Given the description of an element on the screen output the (x, y) to click on. 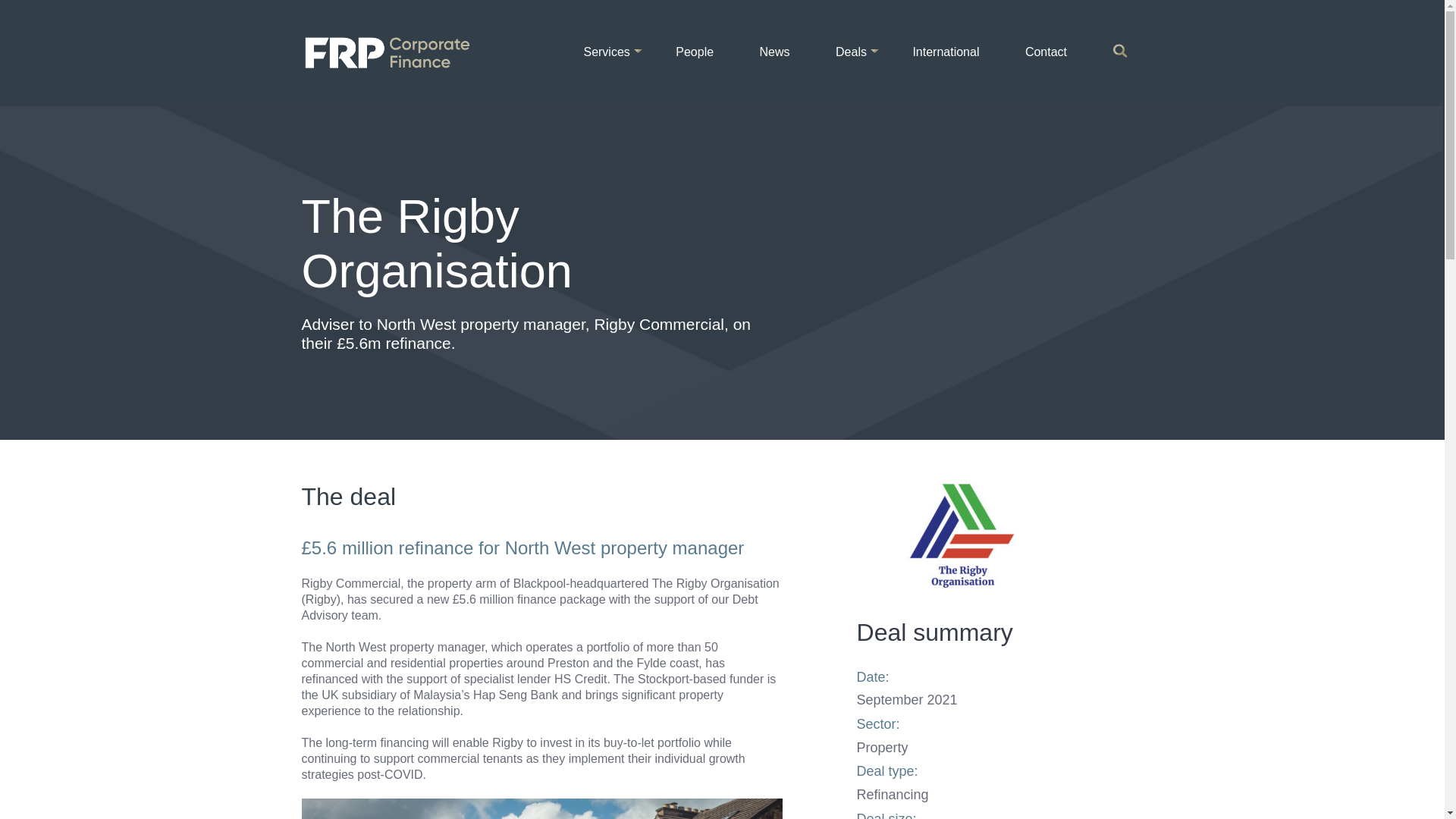
Deals (851, 51)
Services (606, 51)
Contact (1045, 51)
FRP Advisory (398, 52)
News (775, 51)
International (945, 51)
People (694, 51)
Open search modal (1121, 52)
